Given the description of an element on the screen output the (x, y) to click on. 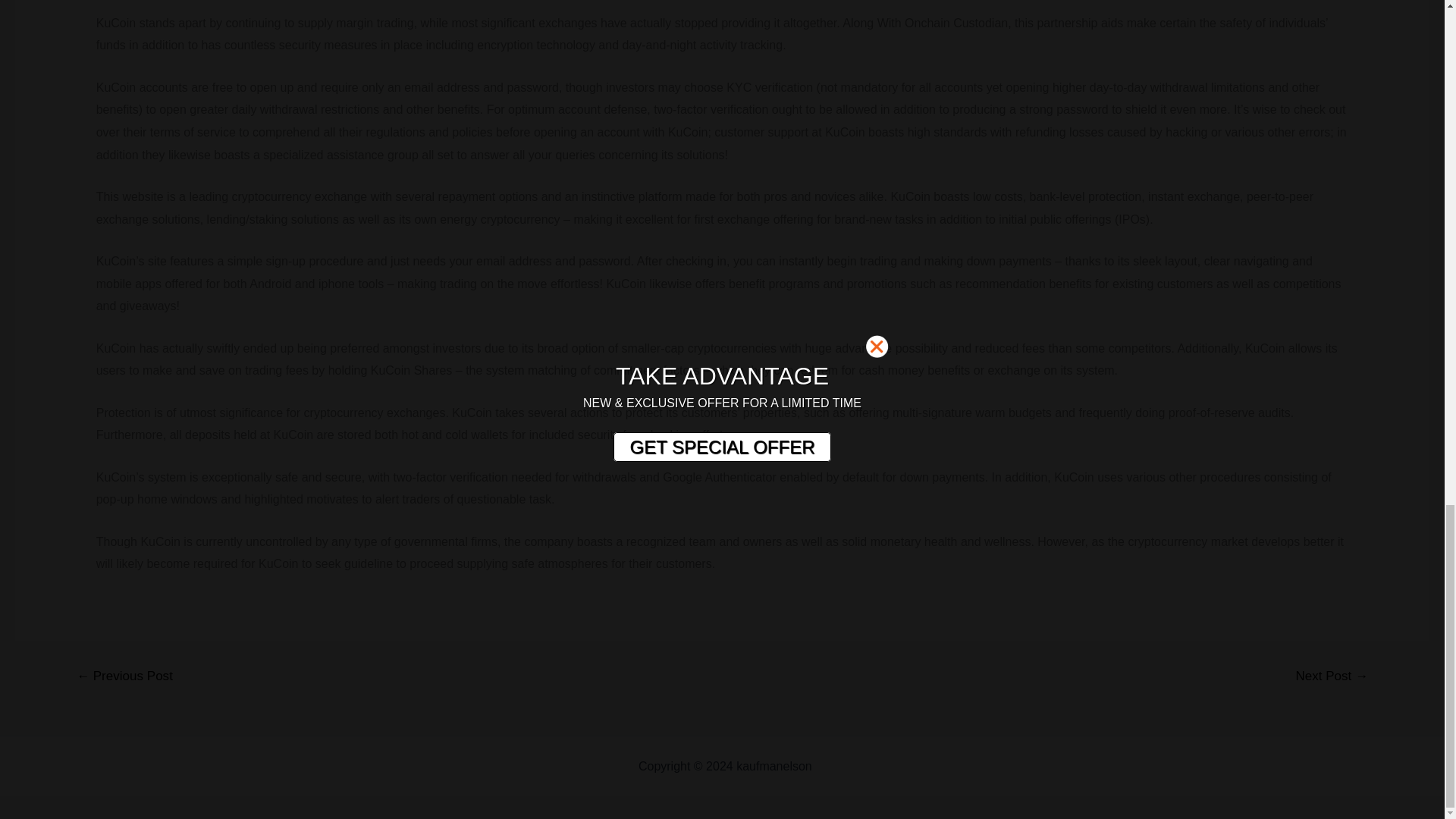
Sitemap (837, 766)
